Given the description of an element on the screen output the (x, y) to click on. 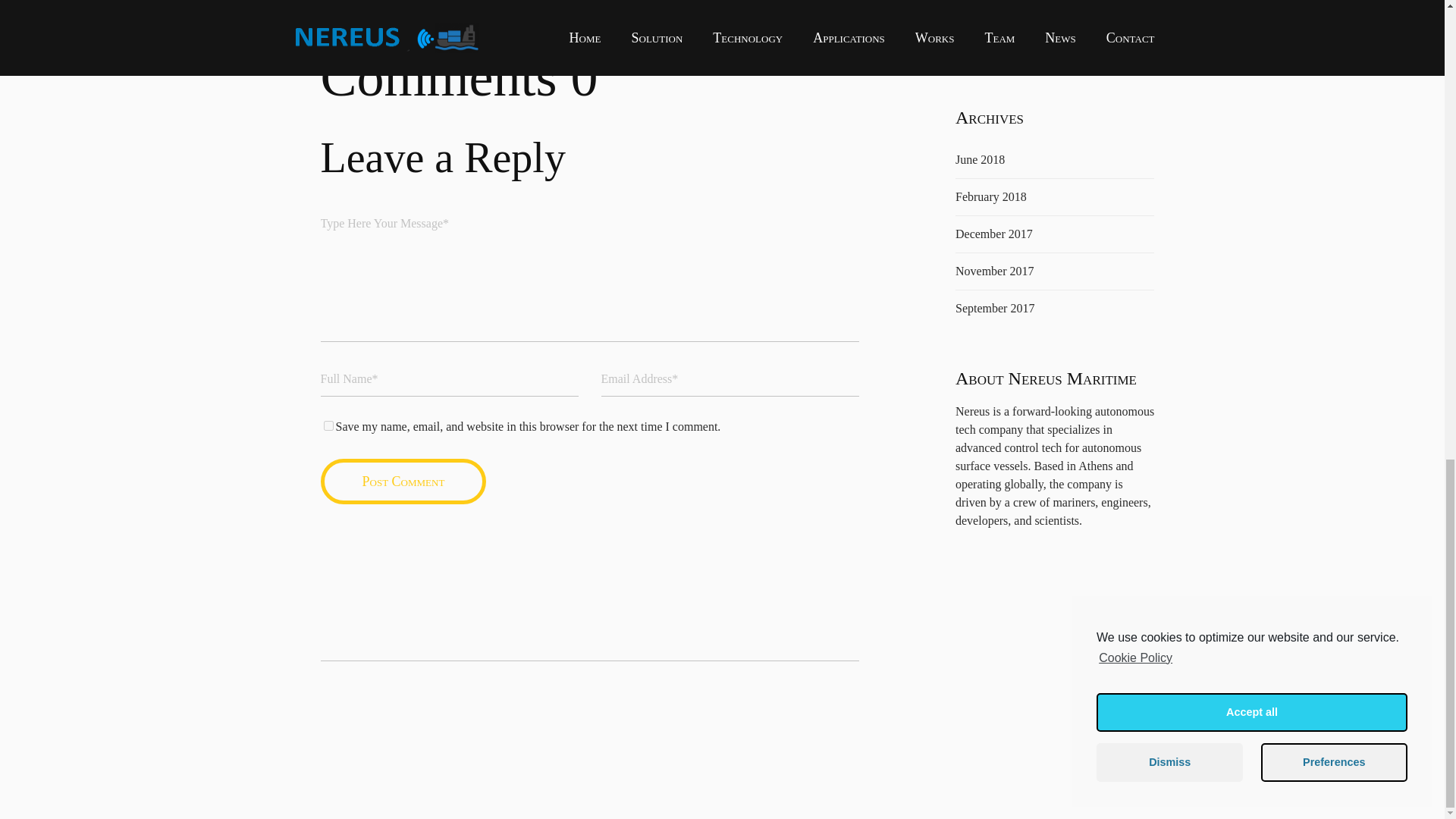
Post Comment (403, 481)
yes (328, 425)
Post Comment (403, 481)
